Given the description of an element on the screen output the (x, y) to click on. 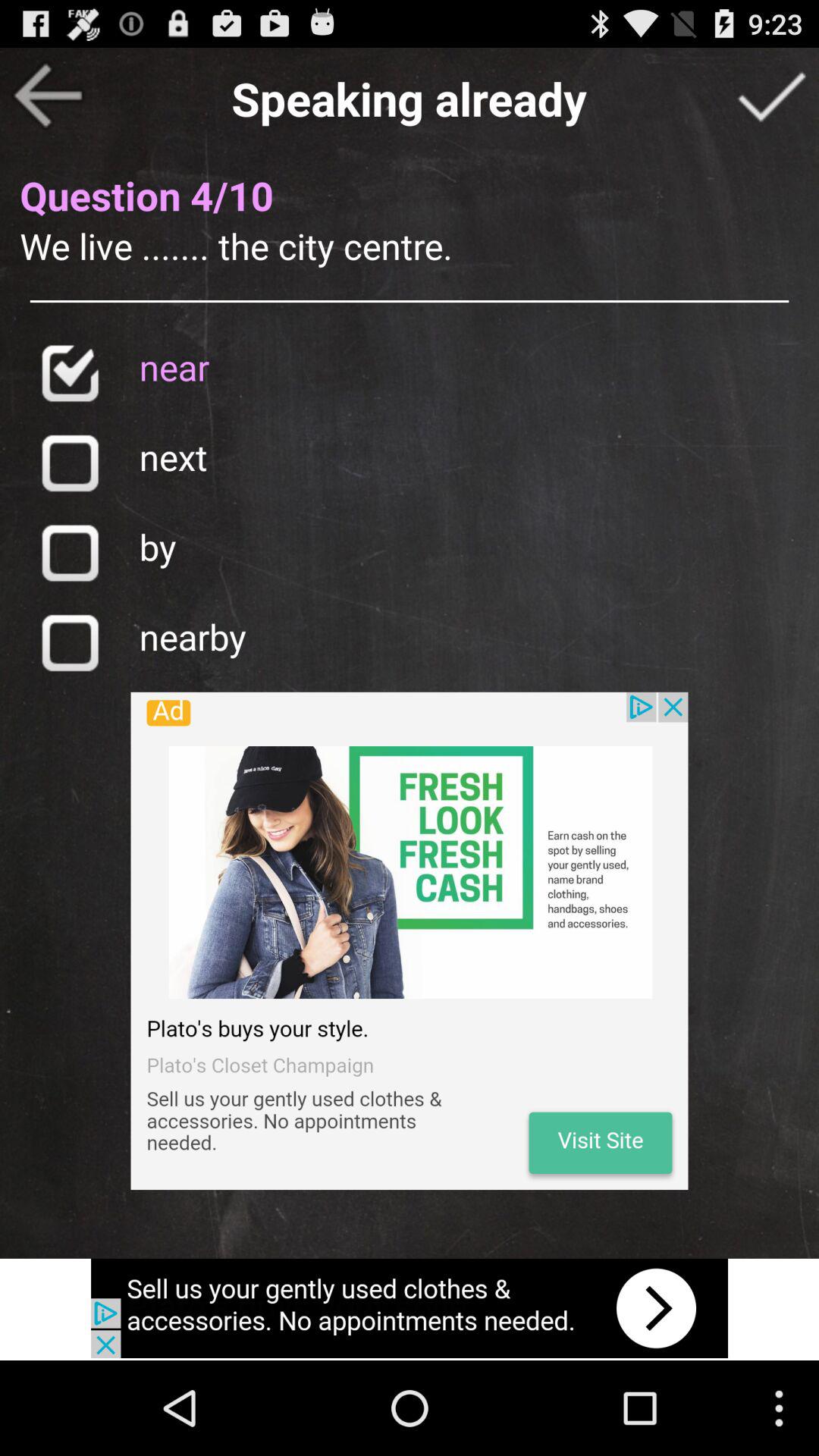
save the answer (771, 95)
